Given the description of an element on the screen output the (x, y) to click on. 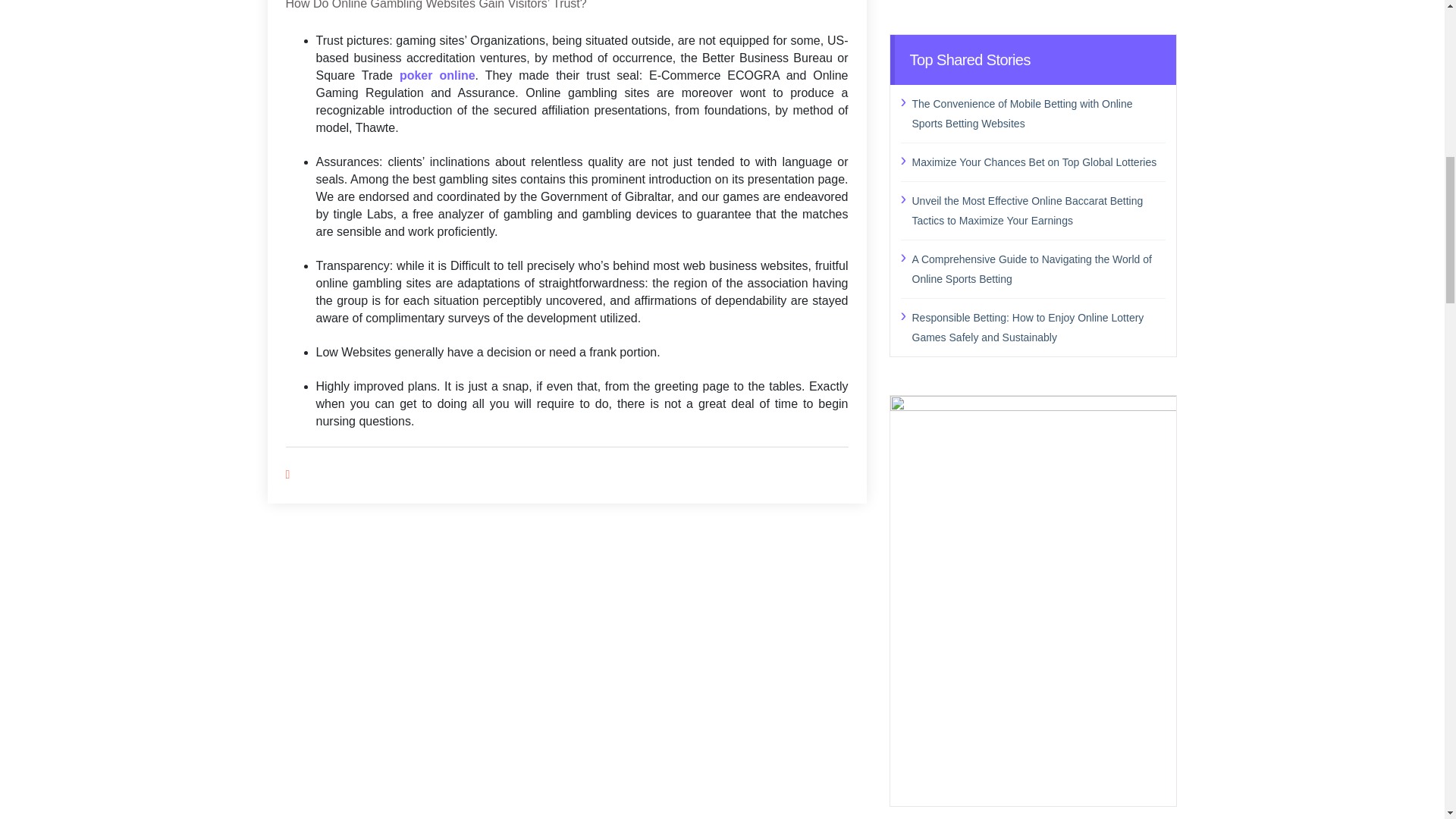
Maximize Your Chances Bet on Top Global Lotteries (1038, 161)
poker online (437, 74)
